Given the description of an element on the screen output the (x, y) to click on. 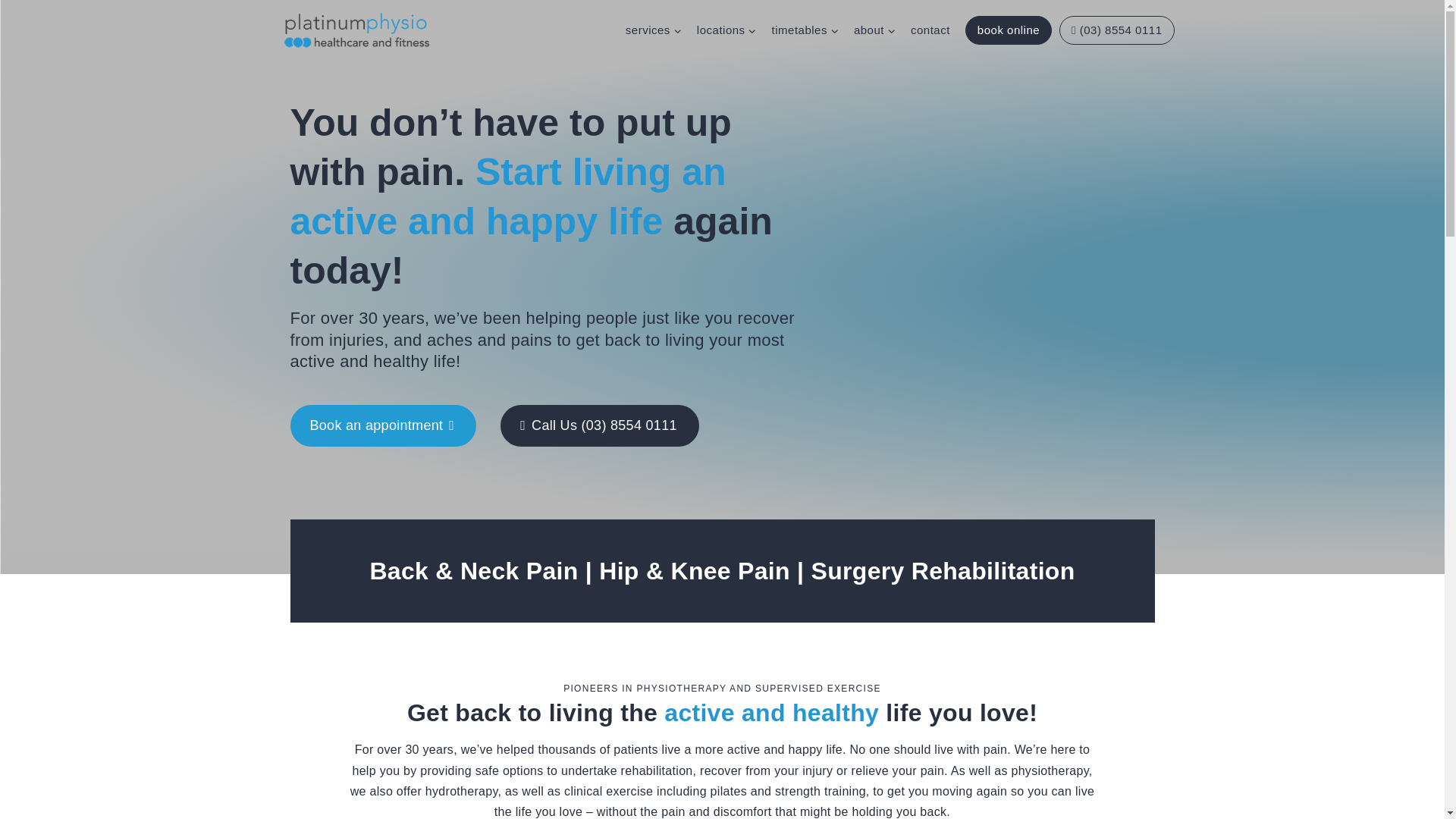
book online (1008, 30)
timetables (804, 29)
services (652, 29)
contact (930, 29)
about (873, 29)
locations (726, 29)
